Given the description of an element on the screen output the (x, y) to click on. 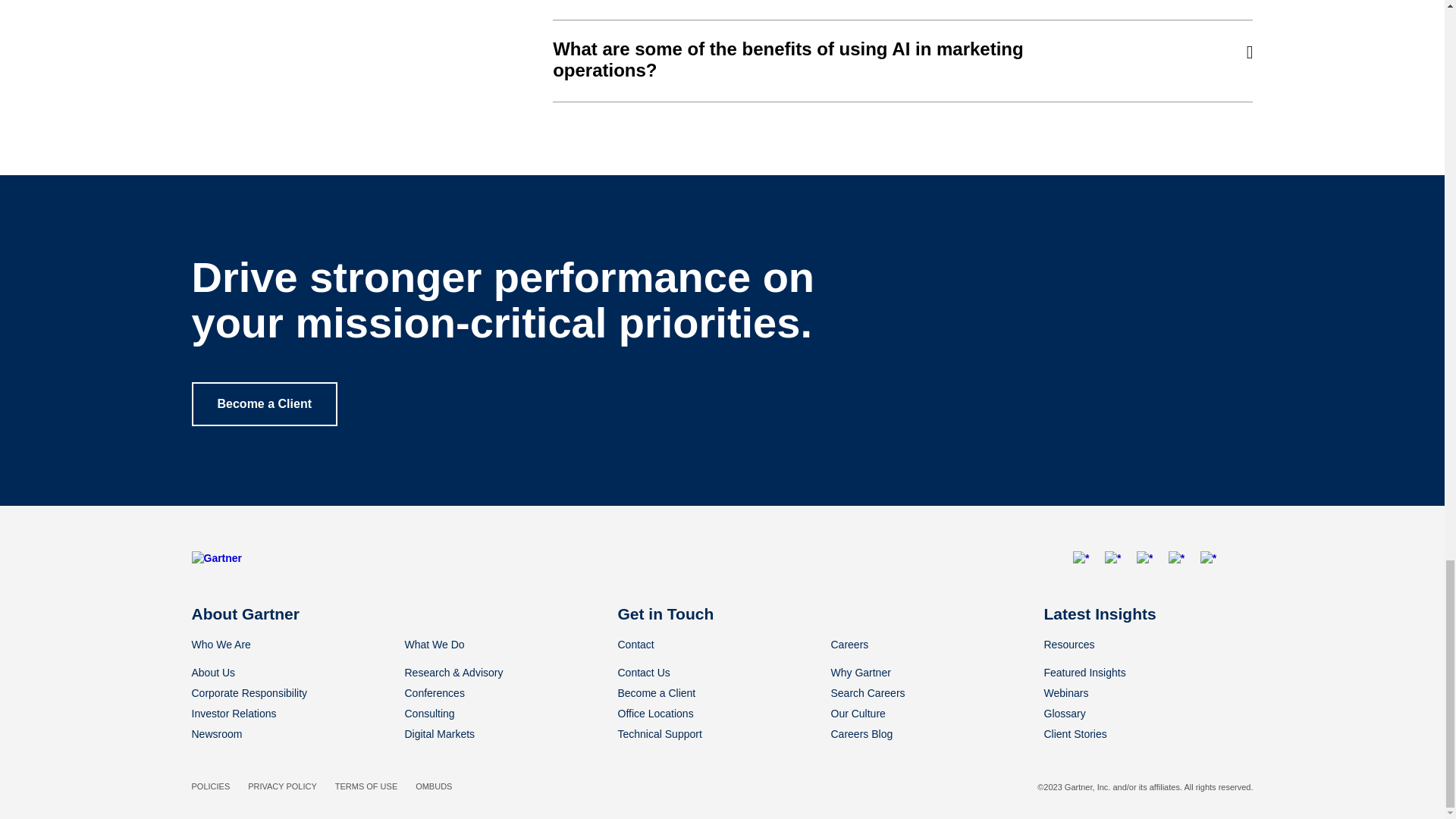
Ombuds (432, 786)
Privacy Policy (282, 786)
Terms of Use (365, 786)
Policies (210, 786)
